Given the description of an element on the screen output the (x, y) to click on. 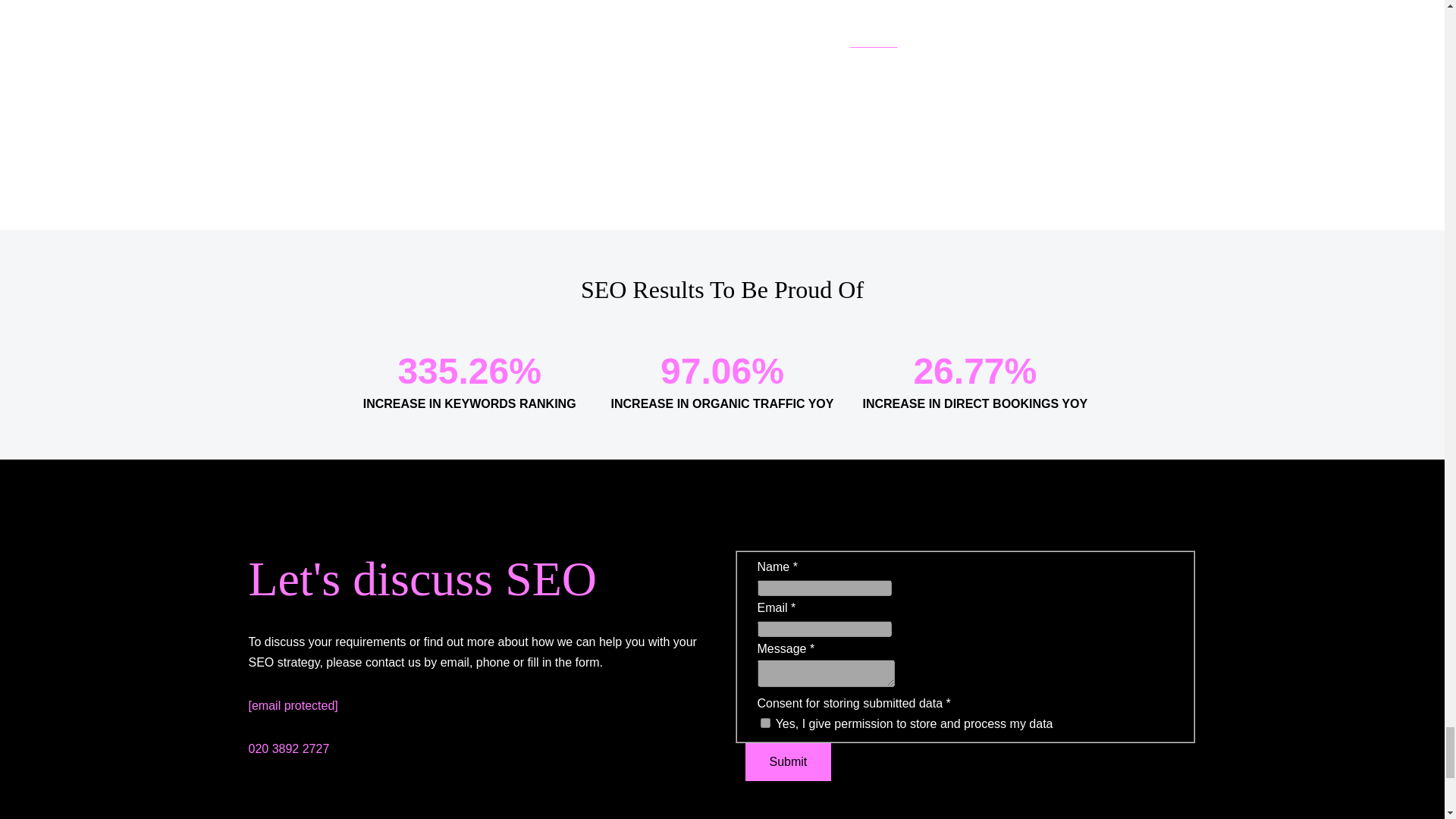
Submit (787, 761)
true (765, 723)
Submit (787, 761)
020 3892 2727 (289, 748)
